Given the description of an element on the screen output the (x, y) to click on. 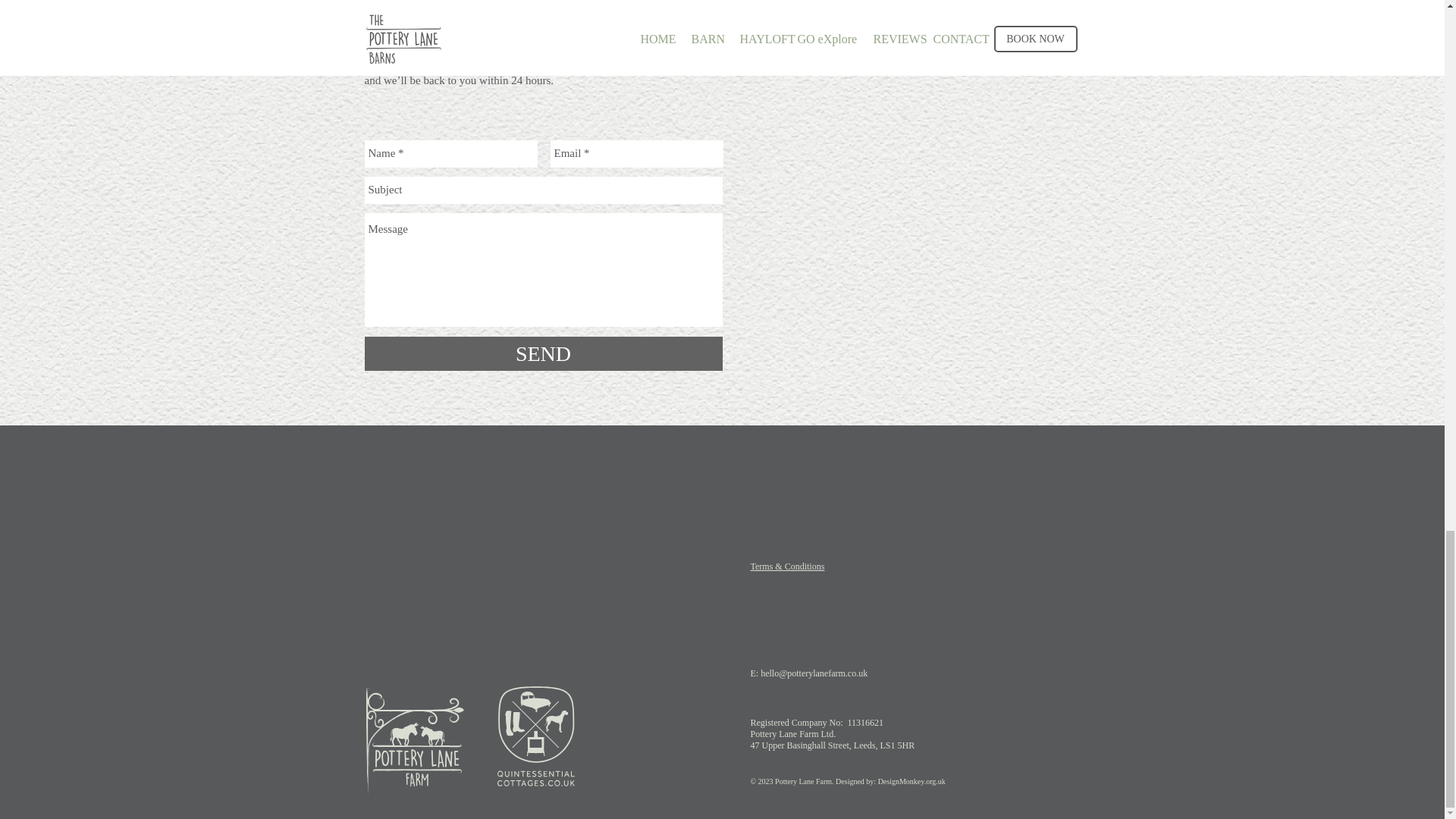
SEND (543, 353)
